Given the description of an element on the screen output the (x, y) to click on. 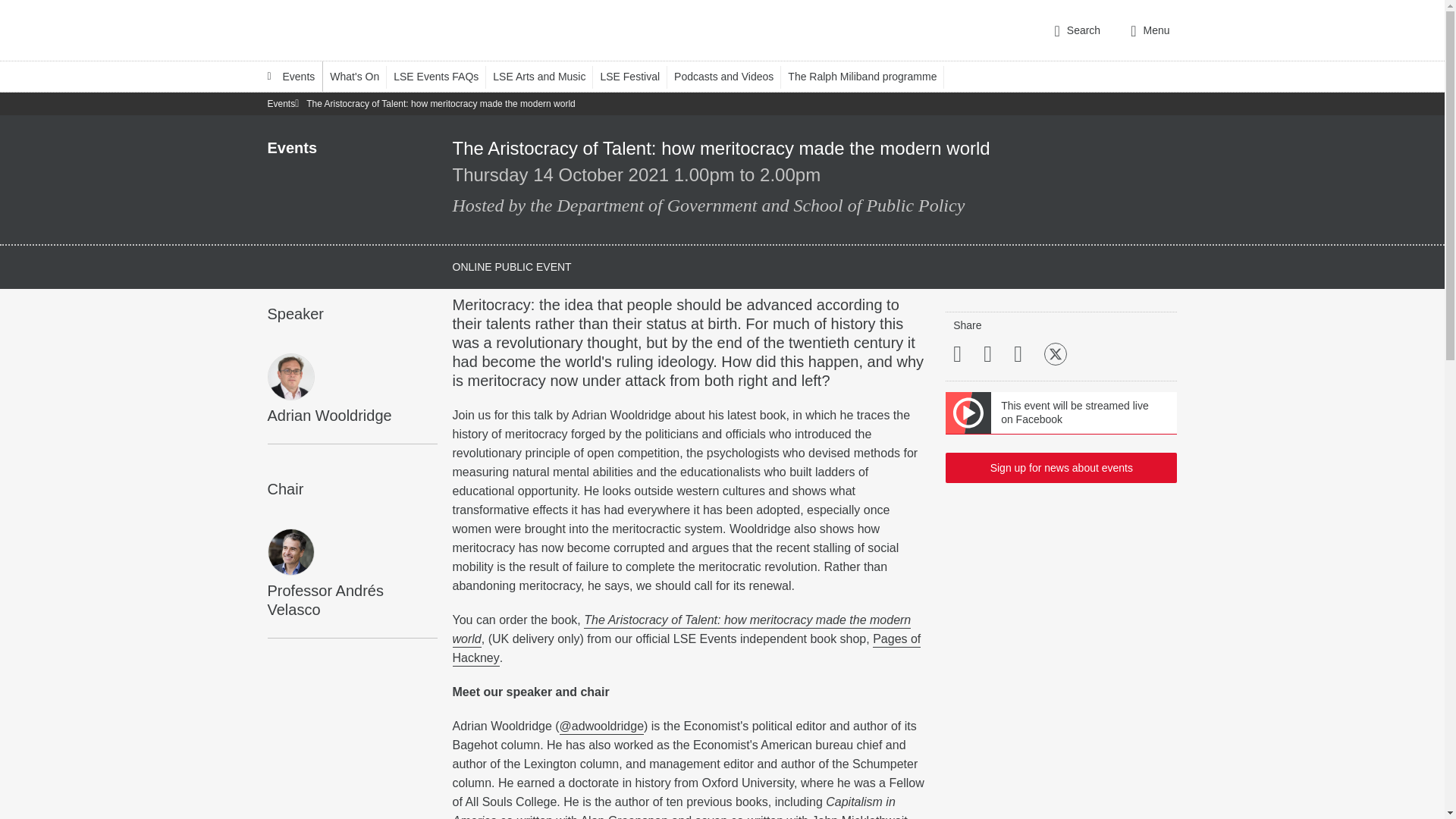
London School of Economics and Political Science (330, 30)
LSE Events (291, 76)
LSE Festival (636, 76)
LSE Events FAQ (443, 76)
Events (291, 76)
What's on (361, 76)
LSE Events FAQs (443, 76)
LSE Arts and Music (546, 76)
LSE Arts and Music (546, 76)
Search (1077, 30)
Podcasts and Videos (730, 76)
Podcasts and Videos (730, 76)
Menu (1150, 30)
The Ralph Miliband Programme (868, 76)
What's On (361, 76)
